Given the description of an element on the screen output the (x, y) to click on. 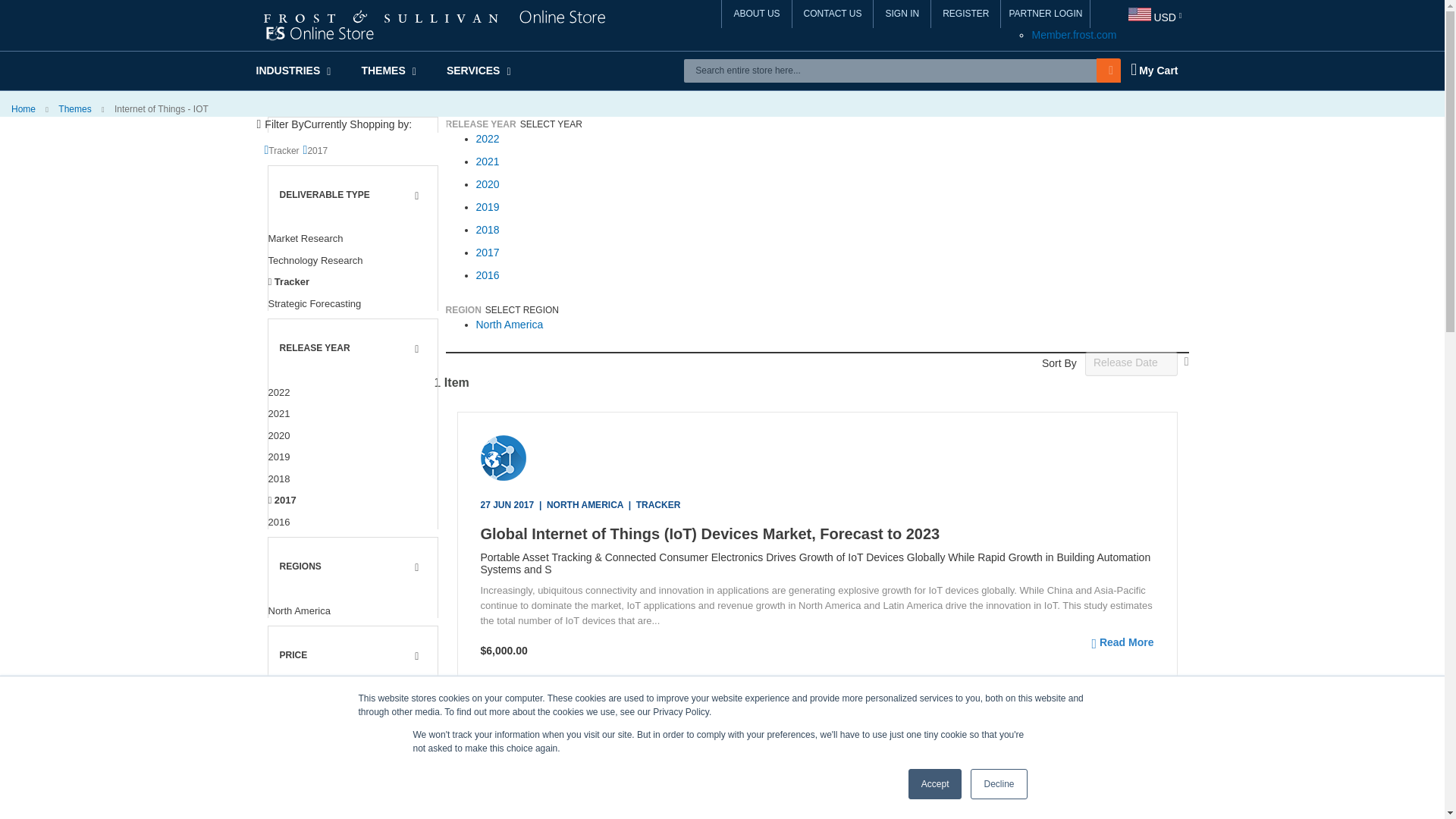
Decline (998, 784)
REGISTER (966, 13)
My Cart (1153, 69)
CONTACT US (833, 13)
Go to Home Page (24, 109)
SIGN IN (902, 13)
PARTNER LOGIN (1045, 13)
INDUSTRIES (308, 70)
Member.frost.com (1073, 34)
Accept (935, 784)
ABOUT US (757, 13)
